Given the description of an element on the screen output the (x, y) to click on. 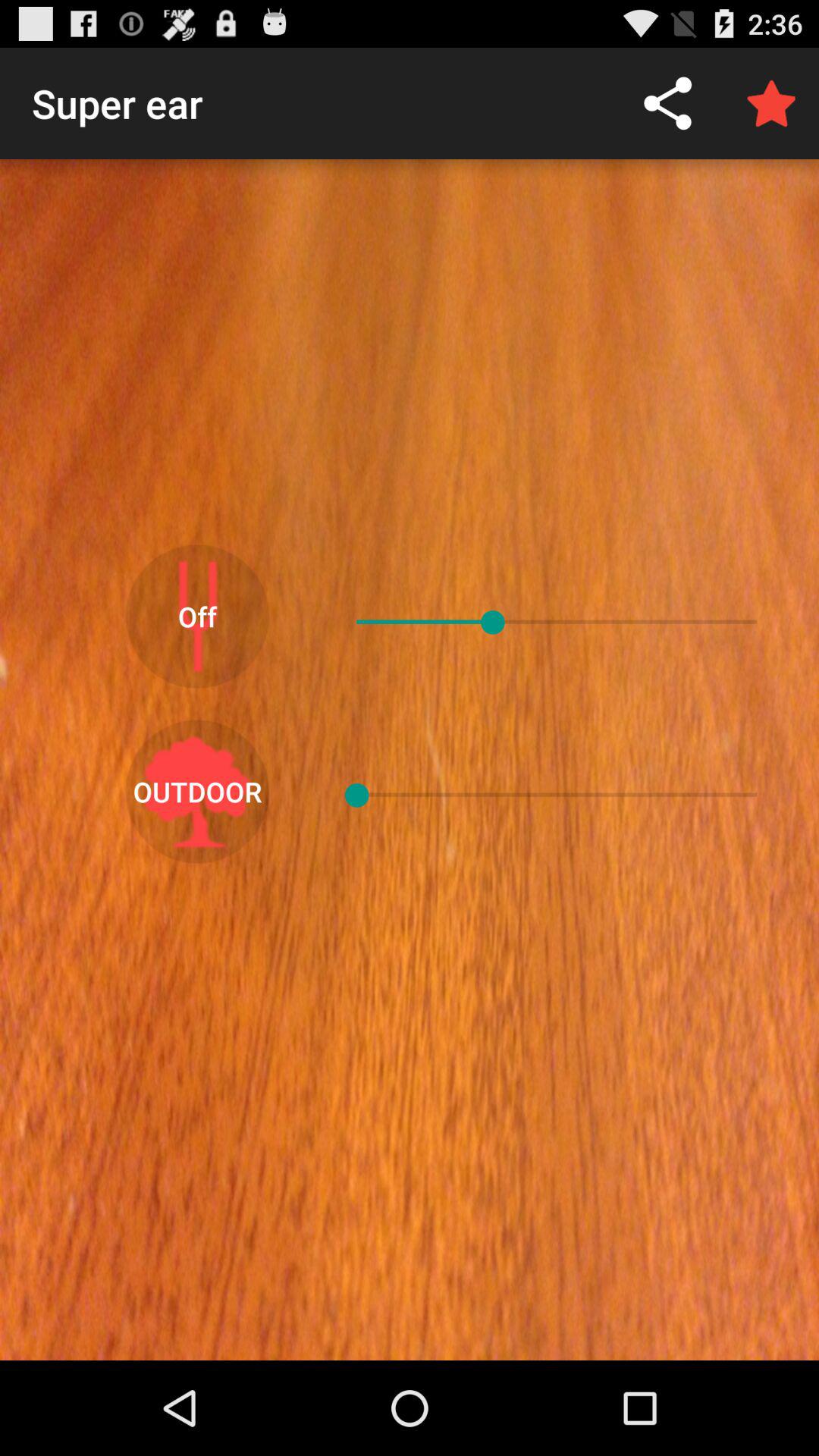
launch the app below super ear (196, 616)
